Given the description of an element on the screen output the (x, y) to click on. 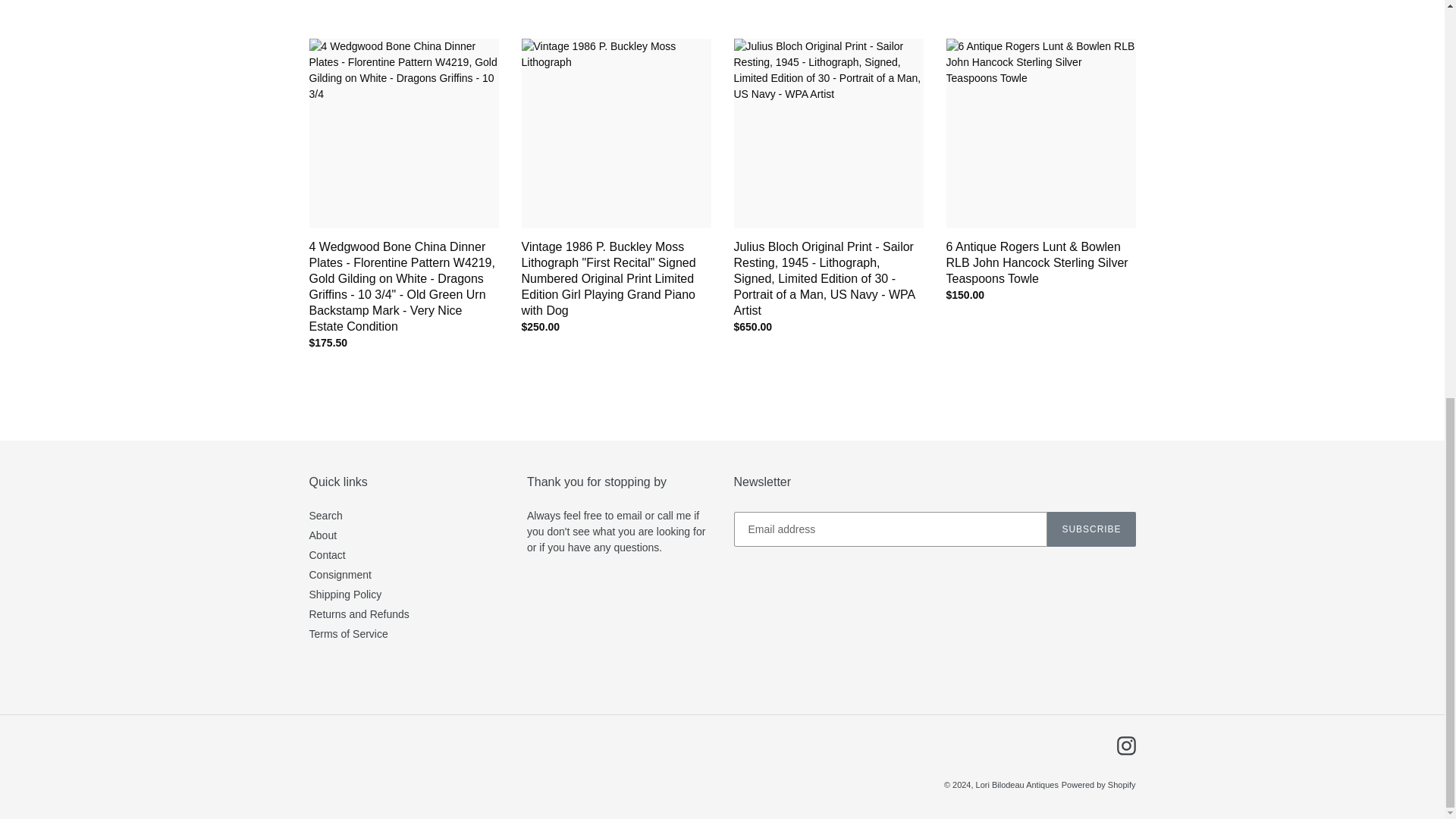
About (322, 535)
Shipping Policy (344, 594)
Search (325, 515)
Consignment (340, 574)
Contact (327, 554)
